Given the description of an element on the screen output the (x, y) to click on. 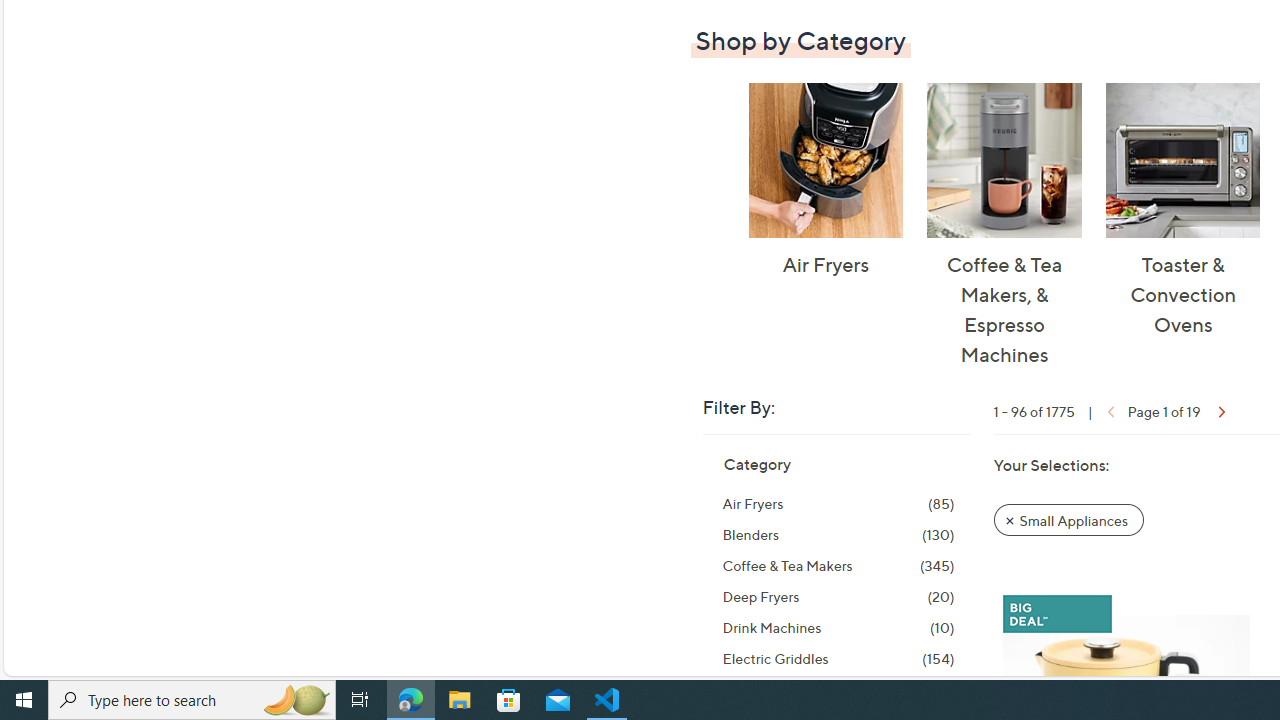
Electric Griddles, 154 items (837, 659)
Toaster & Convection Ovens (1182, 160)
